Given the description of an element on the screen output the (x, y) to click on. 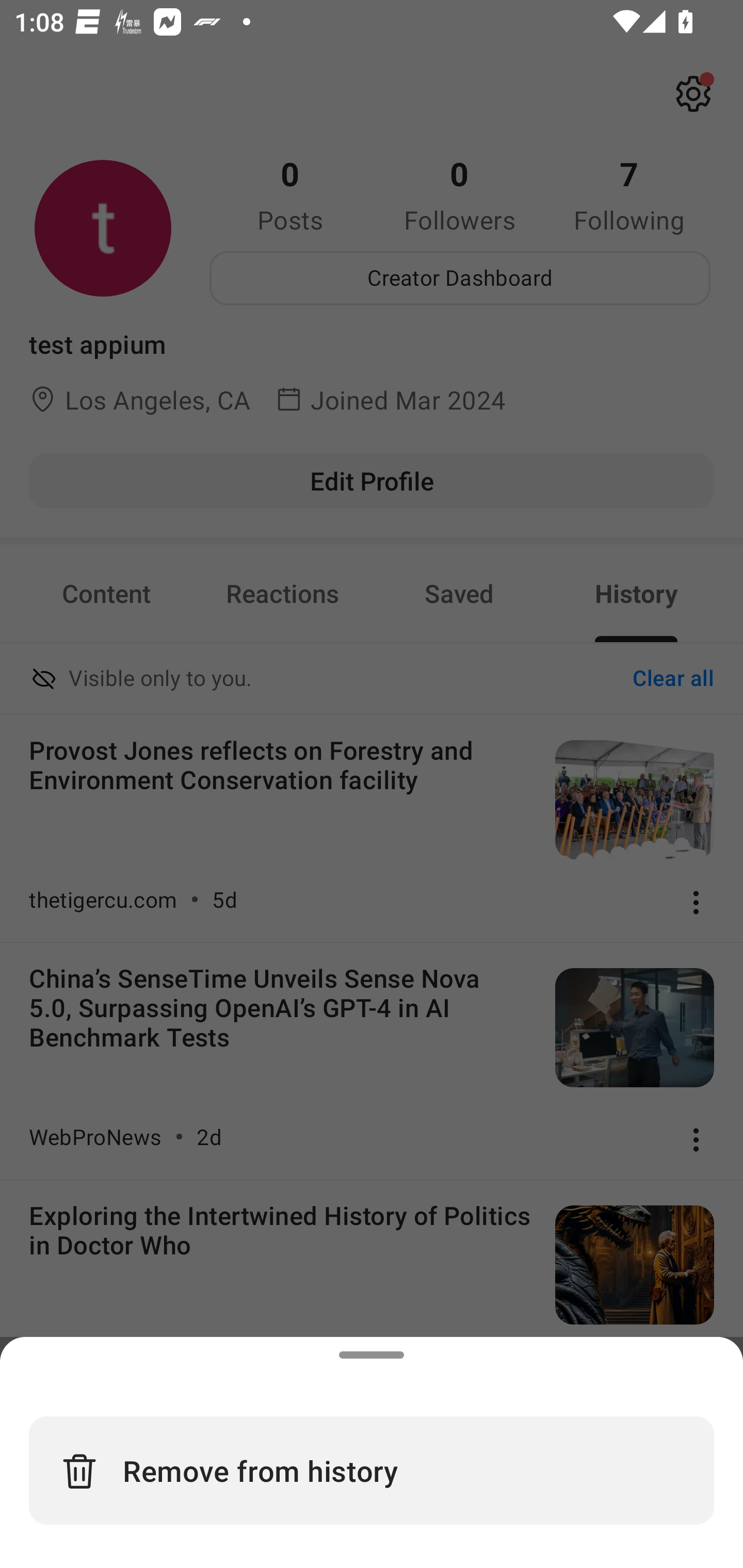
Remove from history (371, 1469)
